Given the description of an element on the screen output the (x, y) to click on. 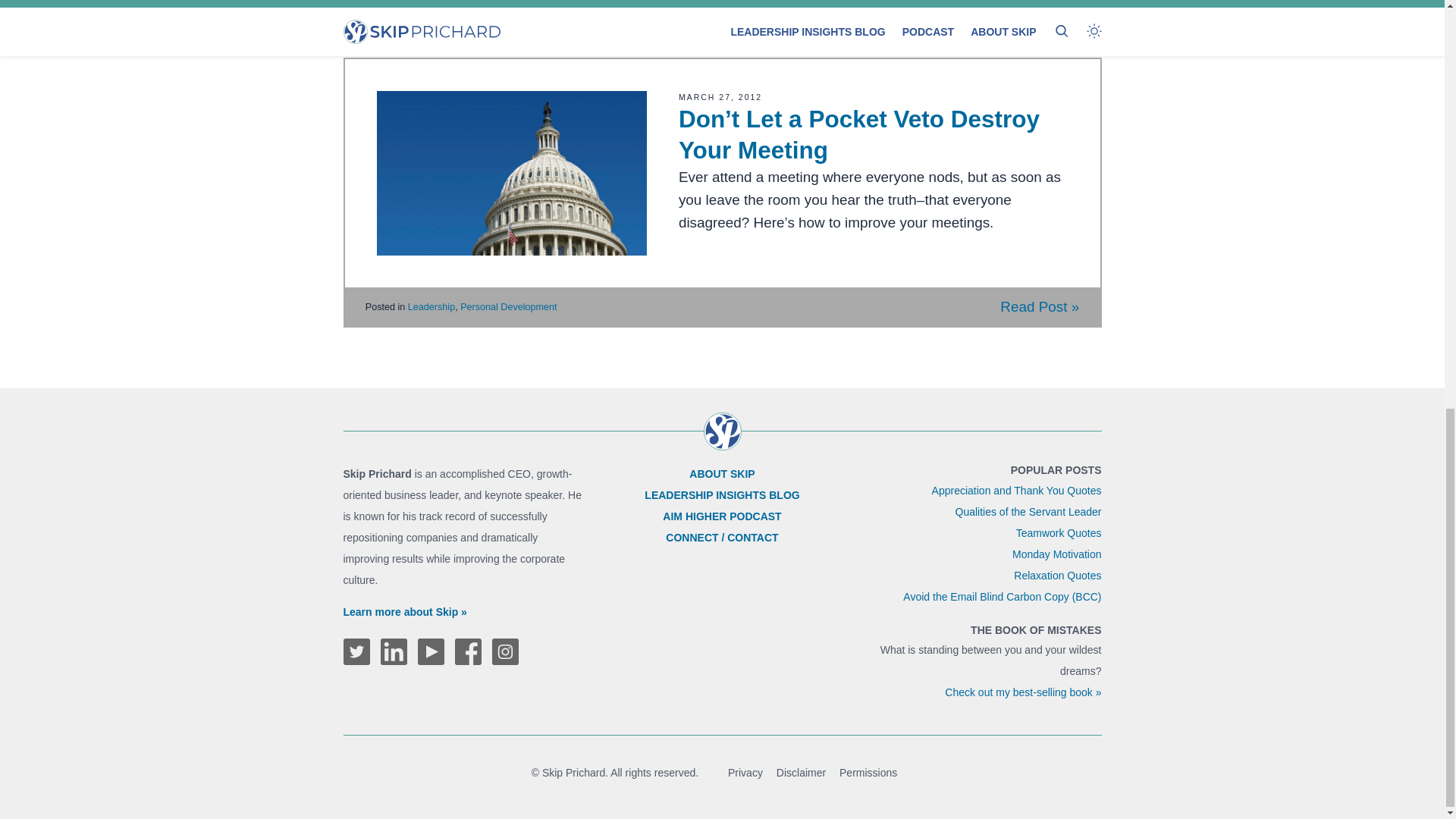
LEADERSHIP INSIGHTS BLOG (722, 494)
Instagram (505, 651)
Connect with Skip on LinkedIn (393, 651)
Appreciation and Thank You Quotes (1016, 490)
Personal Development (508, 12)
Personal Development (508, 307)
Relaxation Quotes (1056, 575)
YouTube (430, 651)
Monday Motivation (1056, 553)
Follow Skip on Instagram (505, 651)
ABOUT SKIP (721, 473)
Follow Skip on Twitter (355, 651)
Qualities of the Servant Leader (1028, 511)
Facebook (467, 651)
Twitter (355, 651)
